Given the description of an element on the screen output the (x, y) to click on. 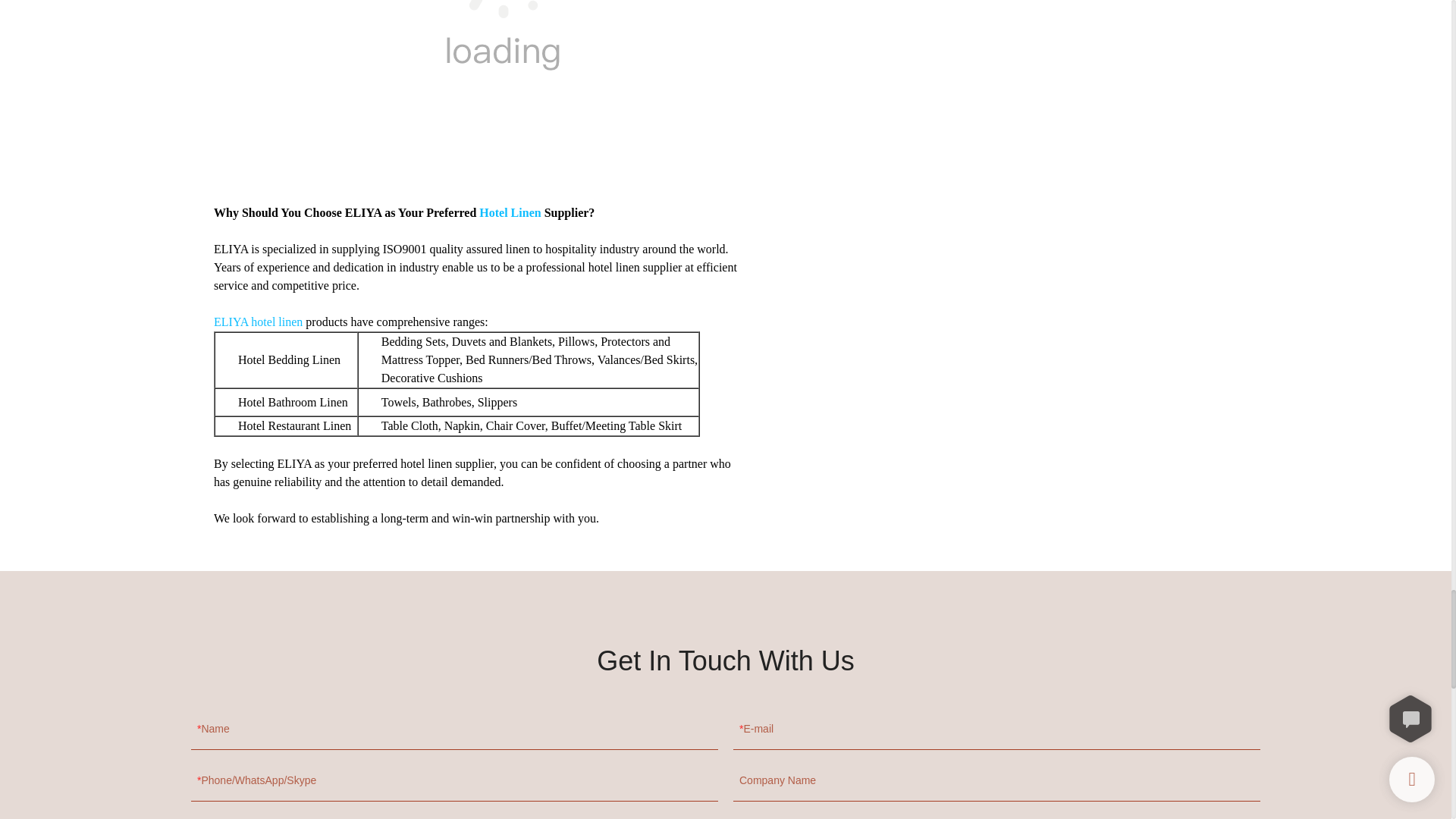
ELIYA hotel linen (258, 321)
Hotel Linen (509, 212)
